Given the description of an element on the screen output the (x, y) to click on. 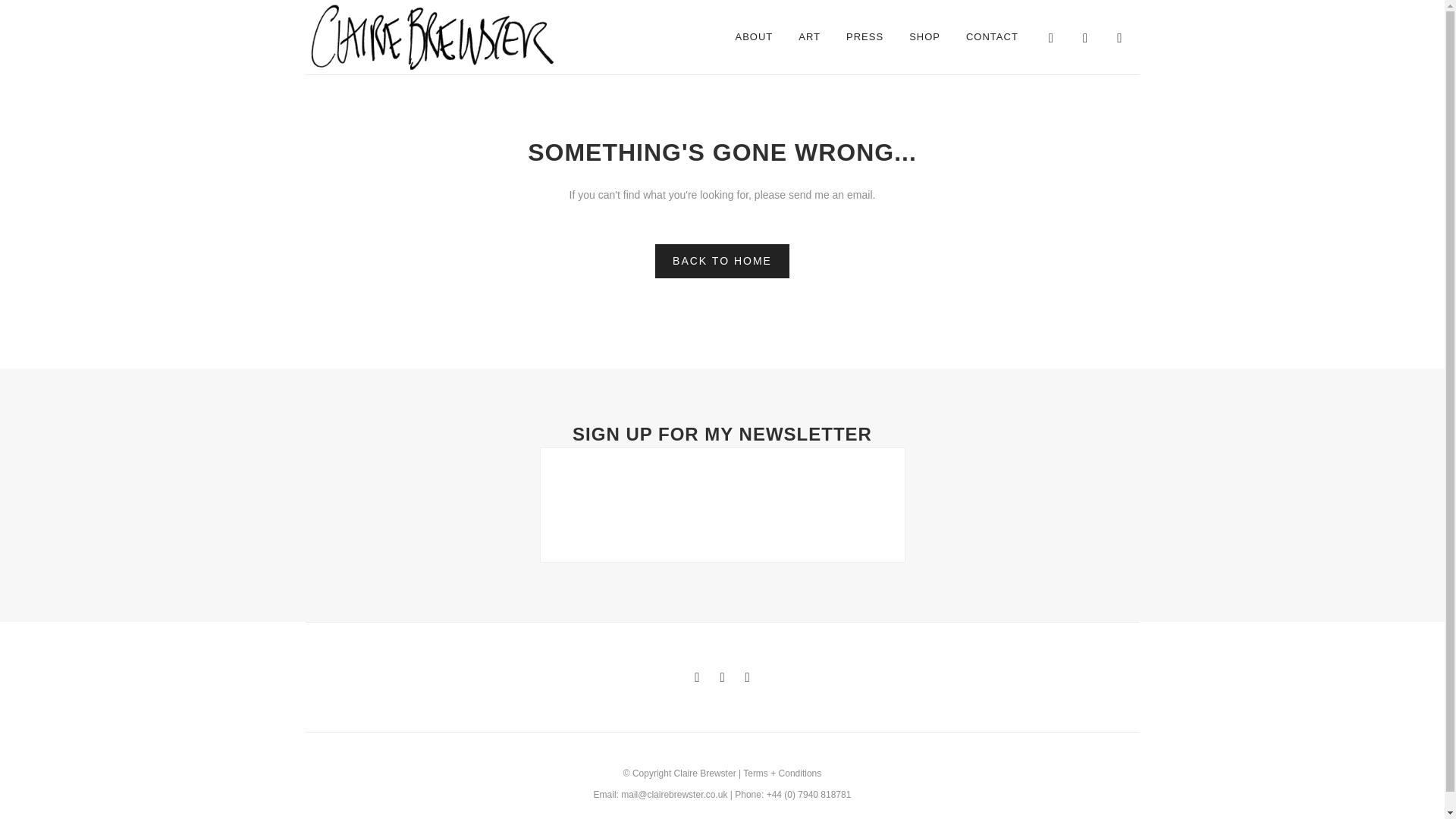
BACK TO HOME (722, 261)
CONTACT (991, 37)
